Given the description of an element on the screen output the (x, y) to click on. 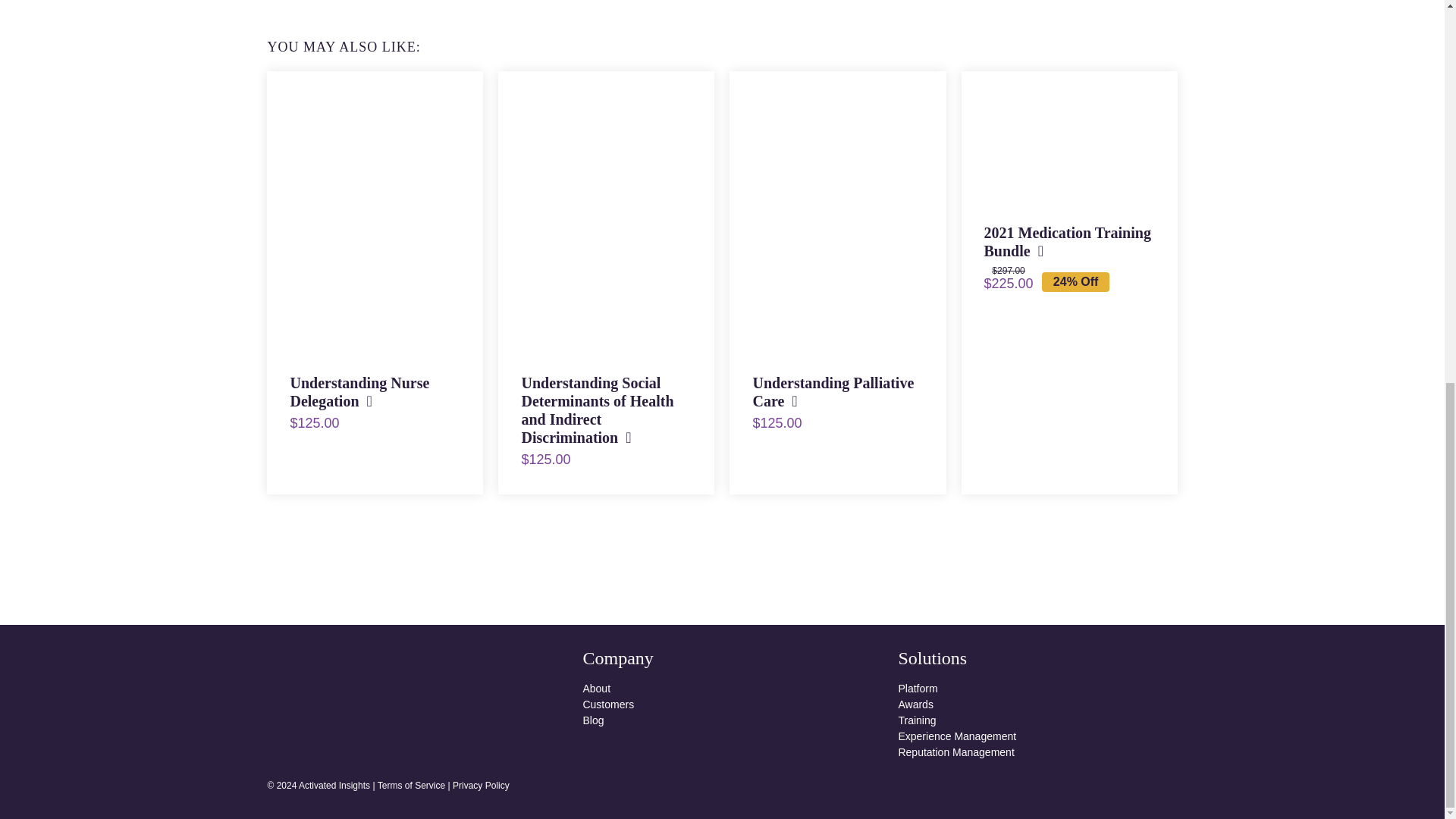
2021 Medication Training Bundle (1067, 241)
Platform (1037, 688)
Understanding Palliative Care (833, 391)
Customers (721, 704)
About (721, 688)
Understanding Nurse Delegation (359, 391)
2021 Medication Training Bundle (1068, 135)
Blog (721, 720)
